Given the description of an element on the screen output the (x, y) to click on. 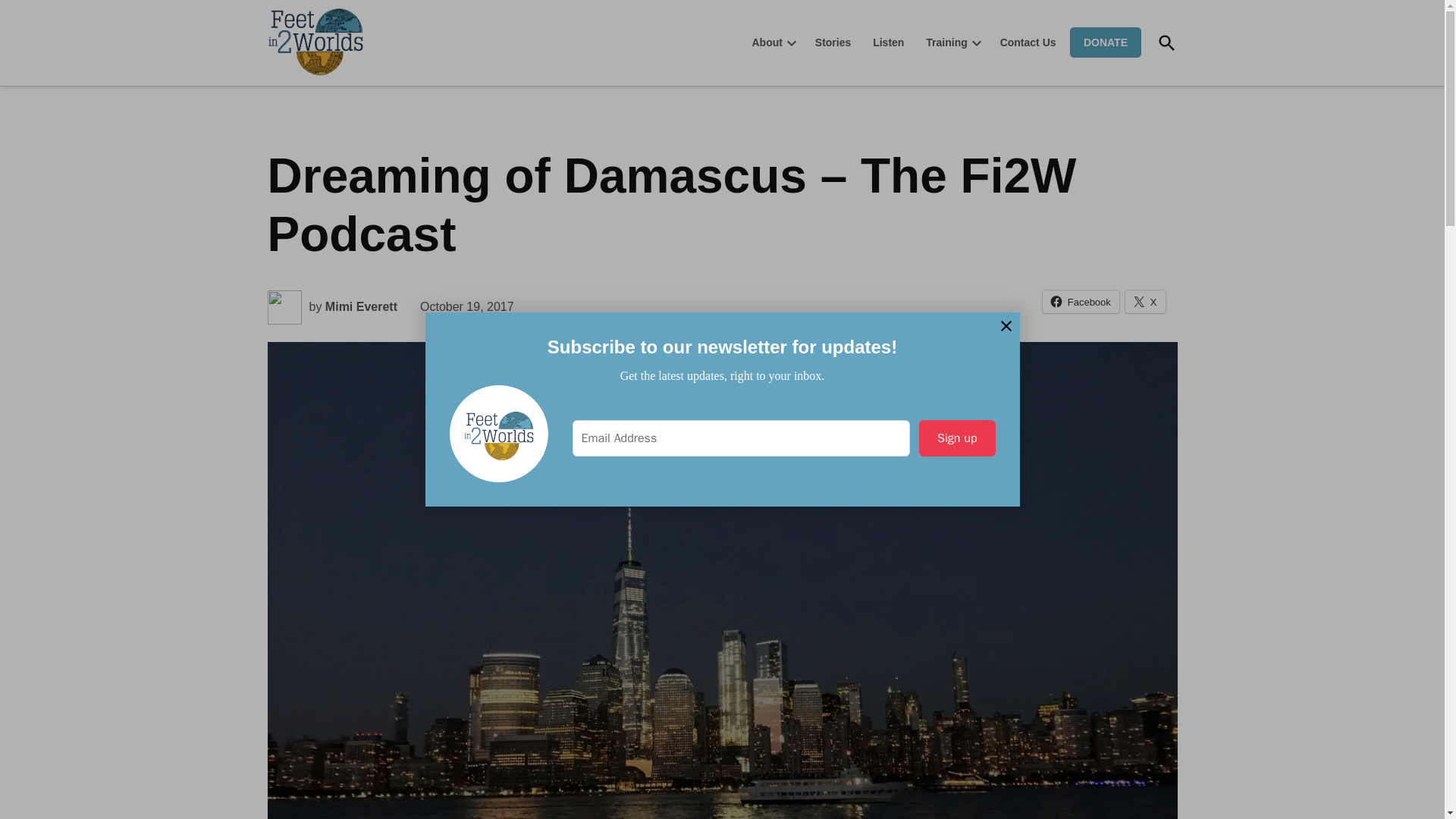
About (766, 42)
Sign up (956, 438)
Training (942, 42)
Listen (887, 42)
Feet in 2 Worlds (401, 74)
Click to share on Facebook (1080, 301)
Click to share on X (1145, 301)
Stories (833, 42)
Open dropdown menu (976, 42)
Open dropdown menu (791, 42)
